Given the description of an element on the screen output the (x, y) to click on. 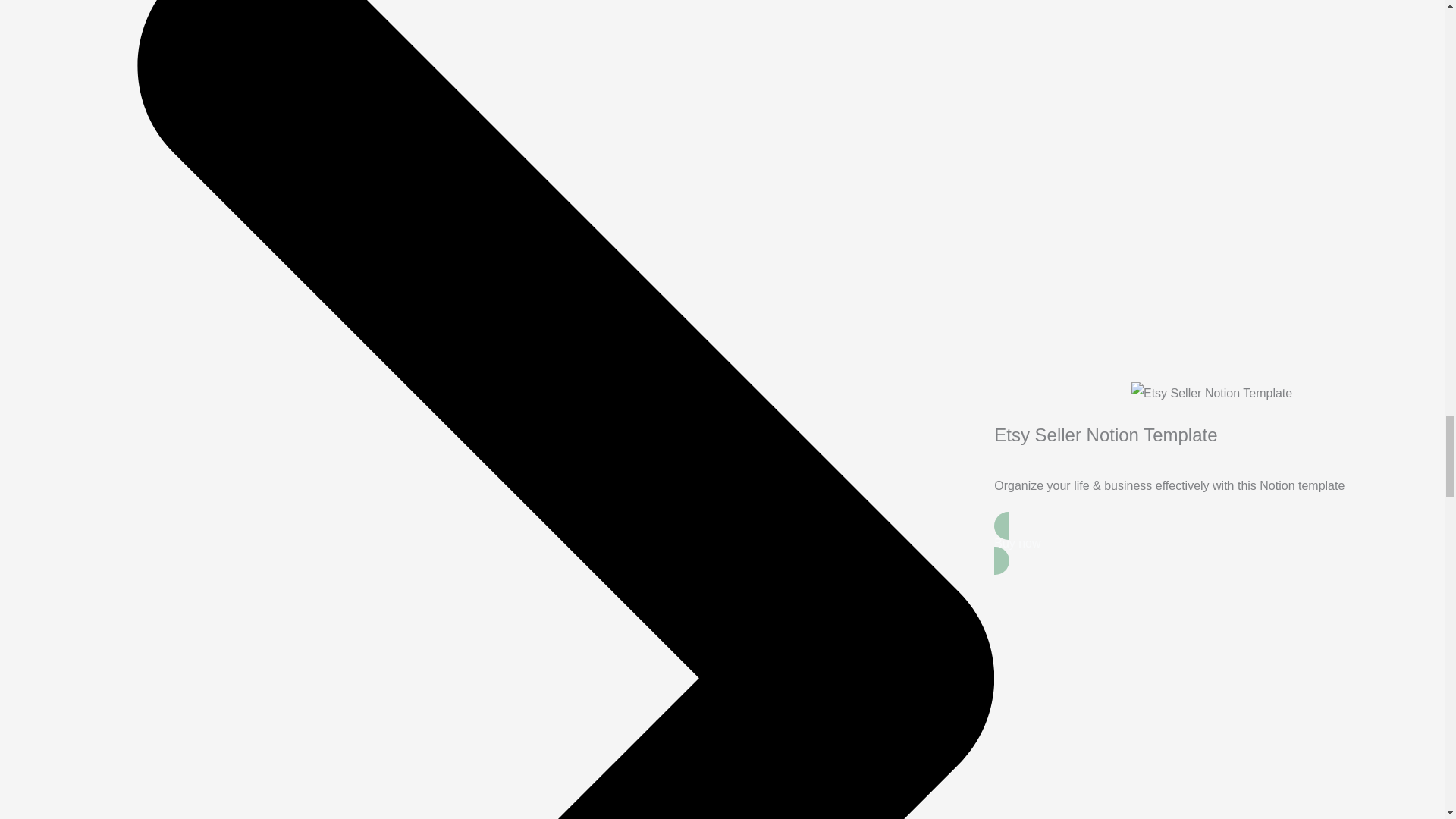
Buy now (1211, 542)
